Given the description of an element on the screen output the (x, y) to click on. 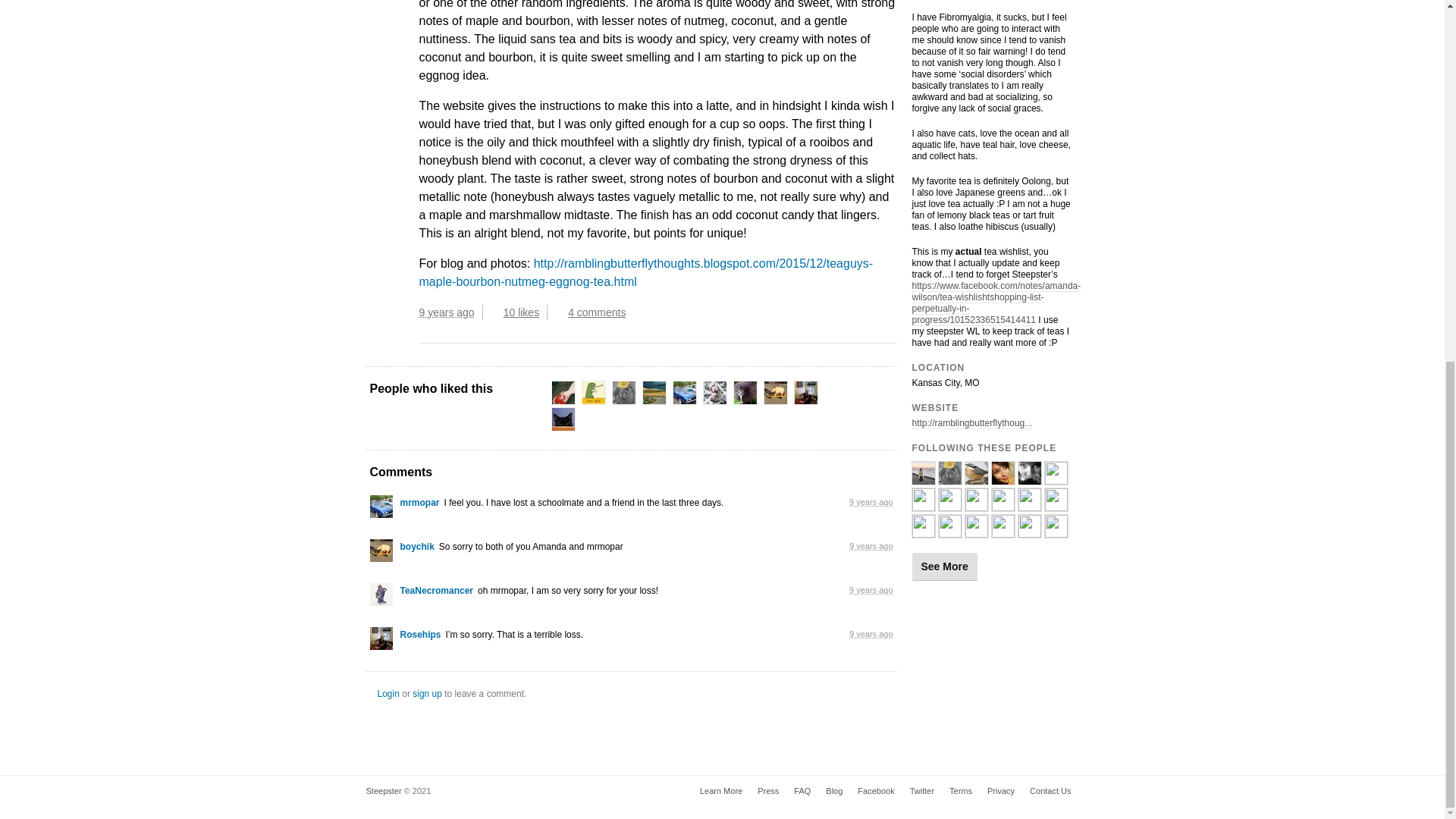
2015-12-22T00:25:42Z (446, 312)
9 years ago (450, 312)
Like This (494, 312)
I Like This (494, 312)
View Nicole's Tealog (623, 392)
View K S's Tealog (593, 392)
View Kittenna's Tealog (654, 392)
10 likes (525, 312)
4 comments (593, 312)
